Given the description of an element on the screen output the (x, y) to click on. 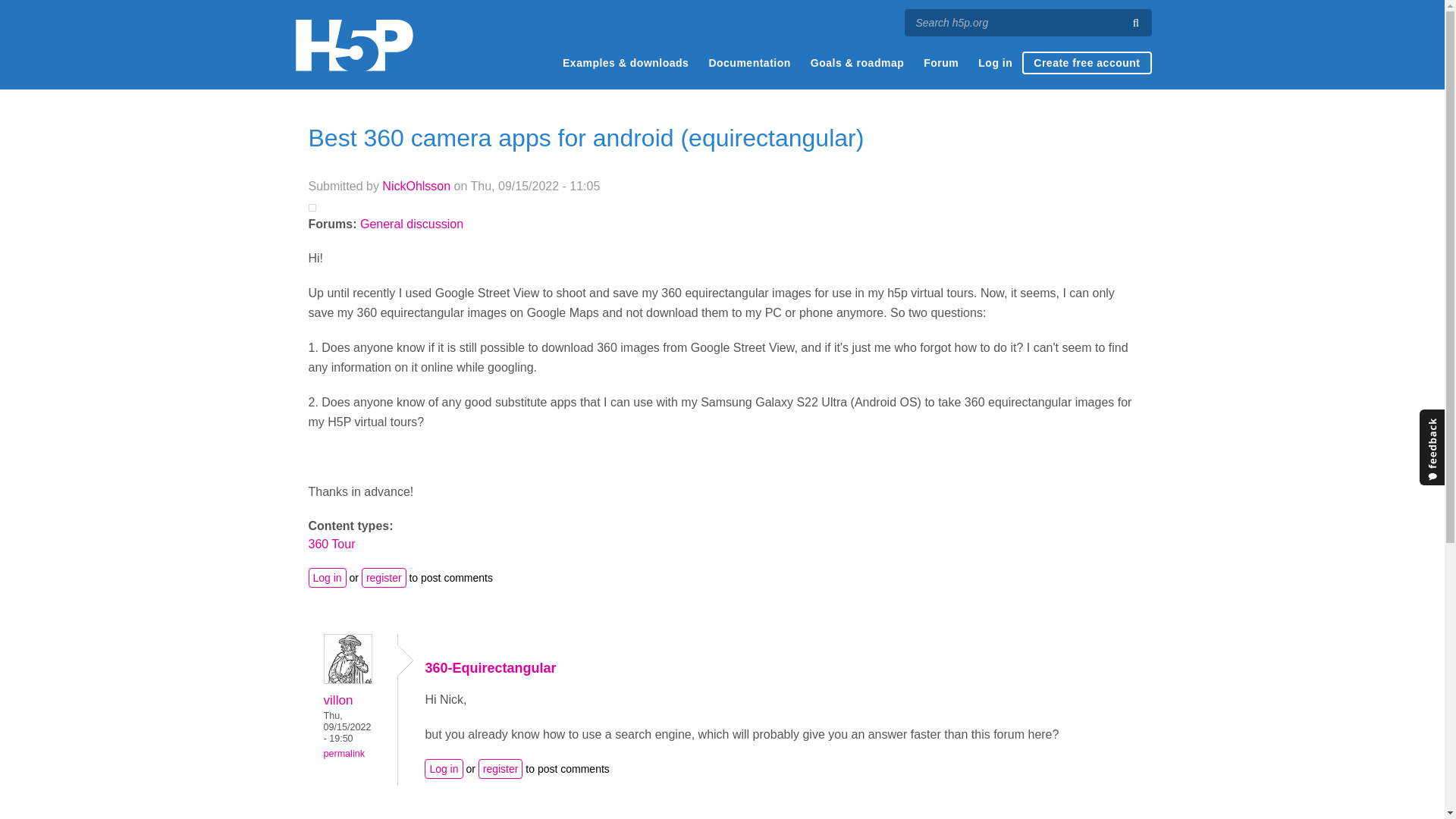
Log in (994, 62)
NickOhlsson (415, 185)
View user profile. (415, 185)
permalink (343, 753)
General discussion (411, 223)
360 Tour (331, 543)
register (383, 578)
villon (337, 699)
Log in (326, 578)
Log in (444, 768)
Create free account (1086, 62)
register (500, 768)
villon's picture (347, 658)
Front page (353, 44)
360-Equirectangular (490, 667)
